Given the description of an element on the screen output the (x, y) to click on. 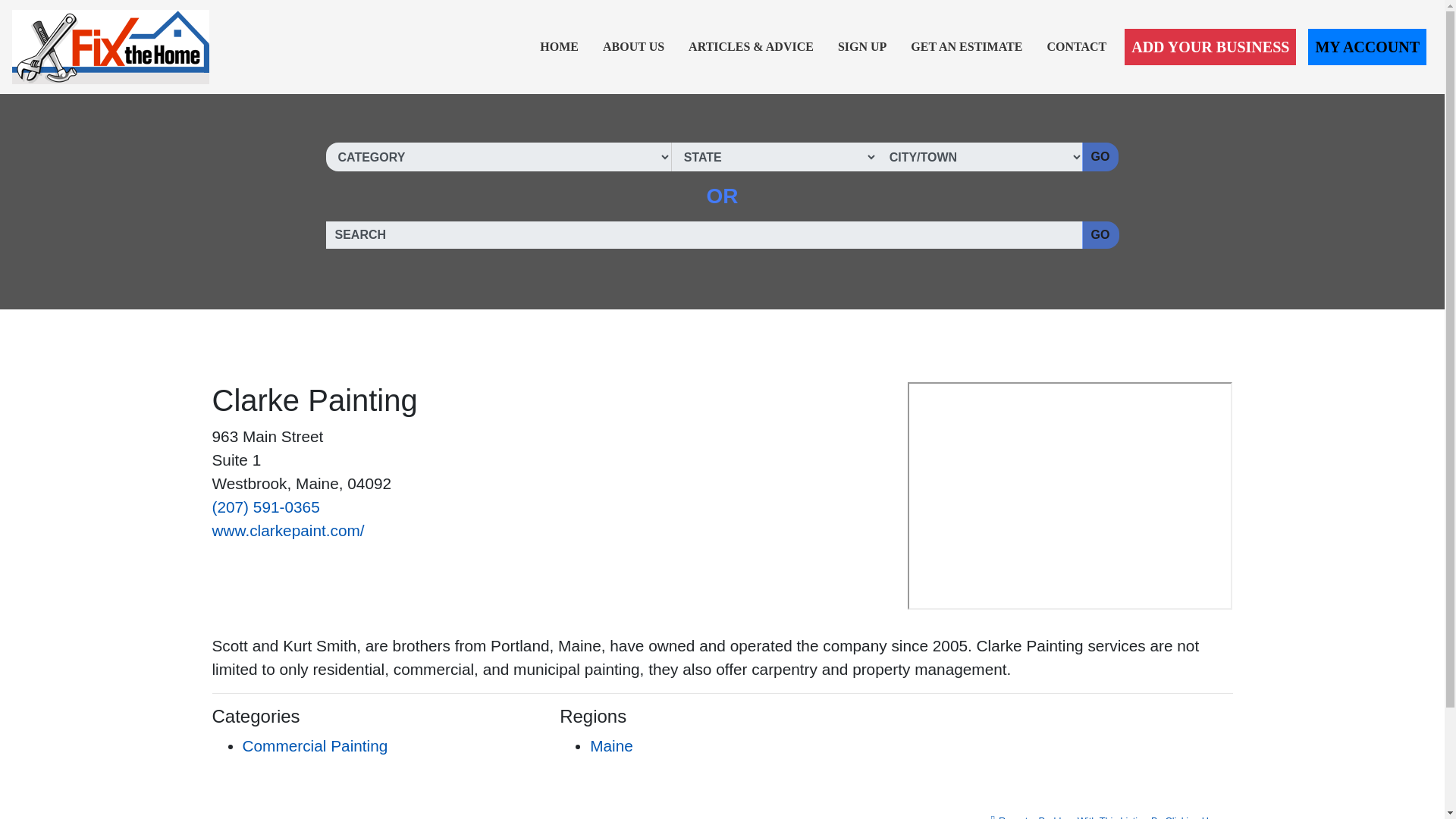
GO (1100, 234)
Report a Problem With This Listing By Clicking Here (1107, 812)
CONTACT (1076, 46)
ADD YOUR BUSINESS (1209, 46)
SIGN UP (861, 46)
MY ACCOUNT (1366, 46)
GET AN ESTIMATE (965, 46)
ABOUT US (632, 46)
HOME (559, 46)
Maine (611, 745)
GO (1100, 156)
Commercial Painting (315, 745)
